Given the description of an element on the screen output the (x, y) to click on. 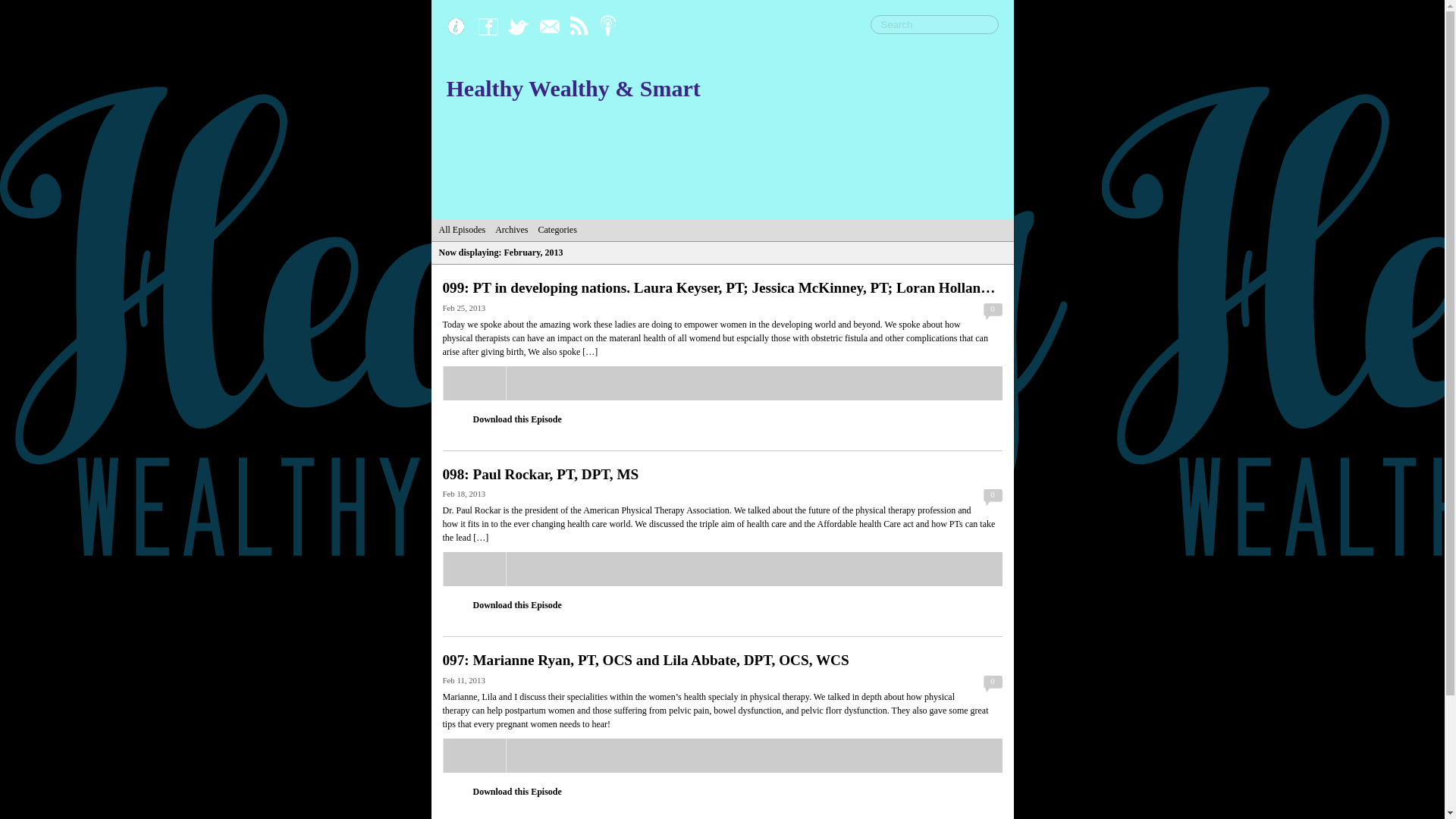
Facebook (491, 26)
Email (552, 26)
Libsyn Player (722, 755)
Libsyn Player (722, 569)
Libsyn Player (722, 383)
RSS Feed (581, 26)
Twitter (521, 26)
Subscribe in Apple Podcasts (611, 26)
